Given the description of an element on the screen output the (x, y) to click on. 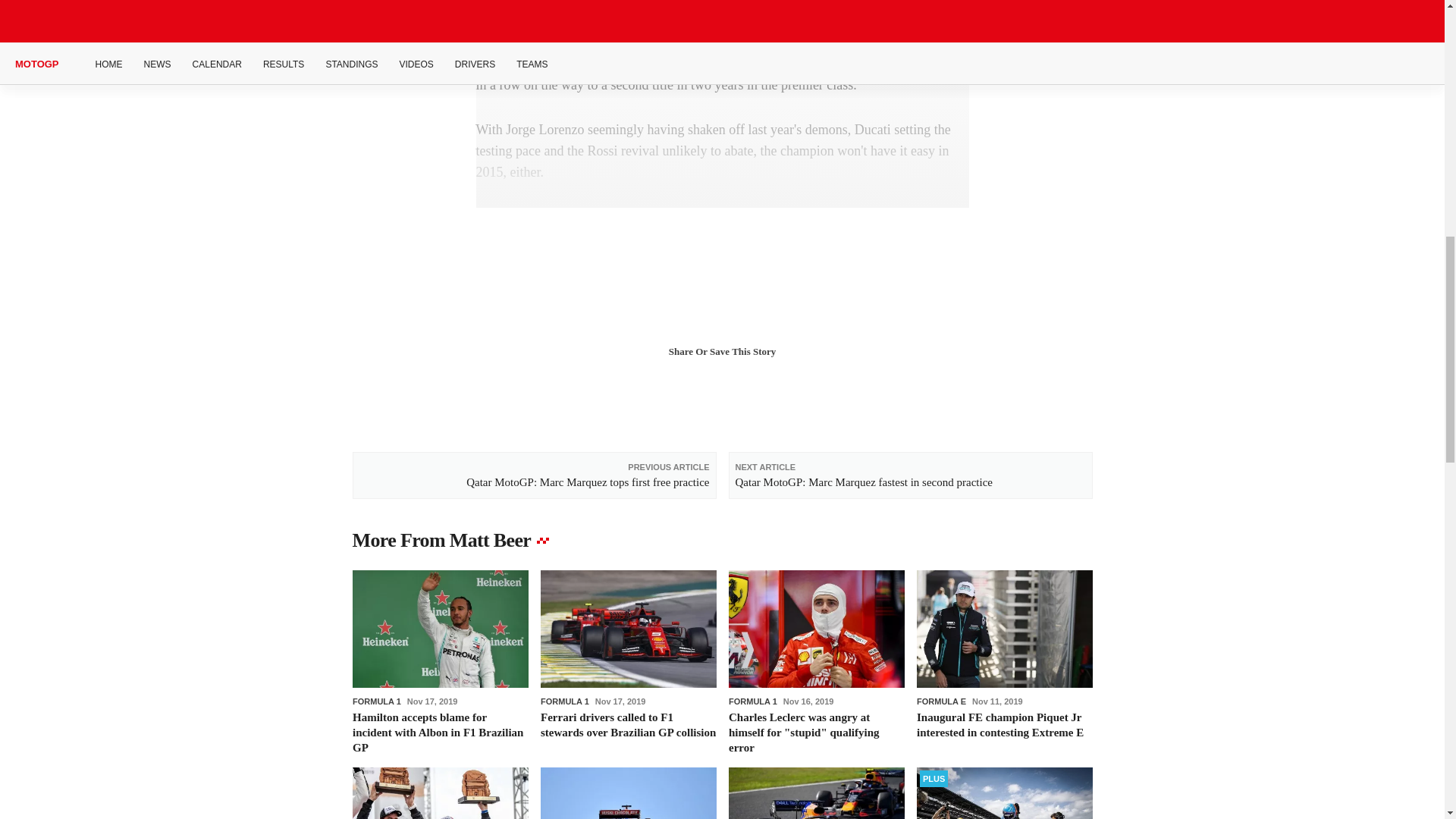
Will Alonso's Indy failure end the age of versatility? (1003, 793)
Qatar MotoGP: Marc Marquez tops first free practice (534, 475)
Qatar MotoGP: Marc Marquez fastest in second practice (910, 475)
